Given the description of an element on the screen output the (x, y) to click on. 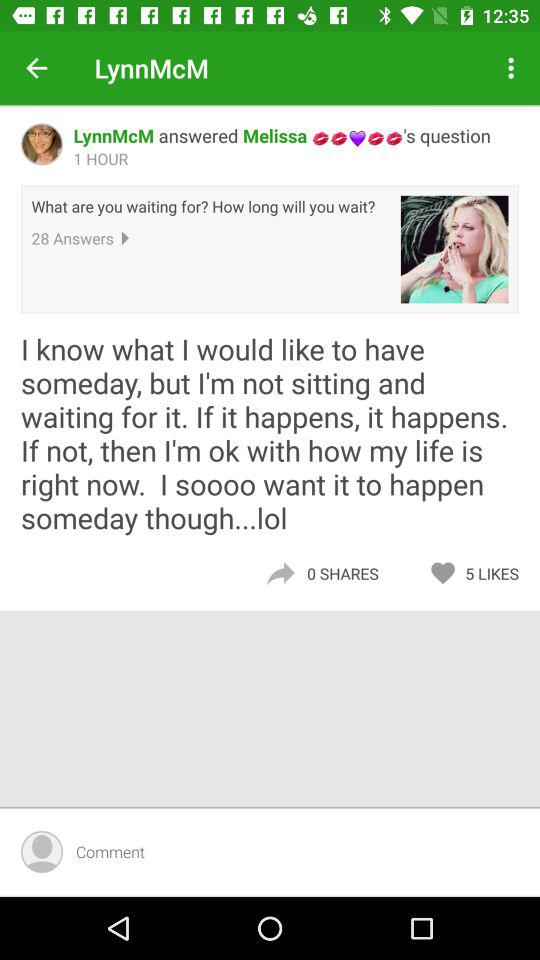
tap icon to the left of the lynnmcm icon (36, 68)
